Given the description of an element on the screen output the (x, y) to click on. 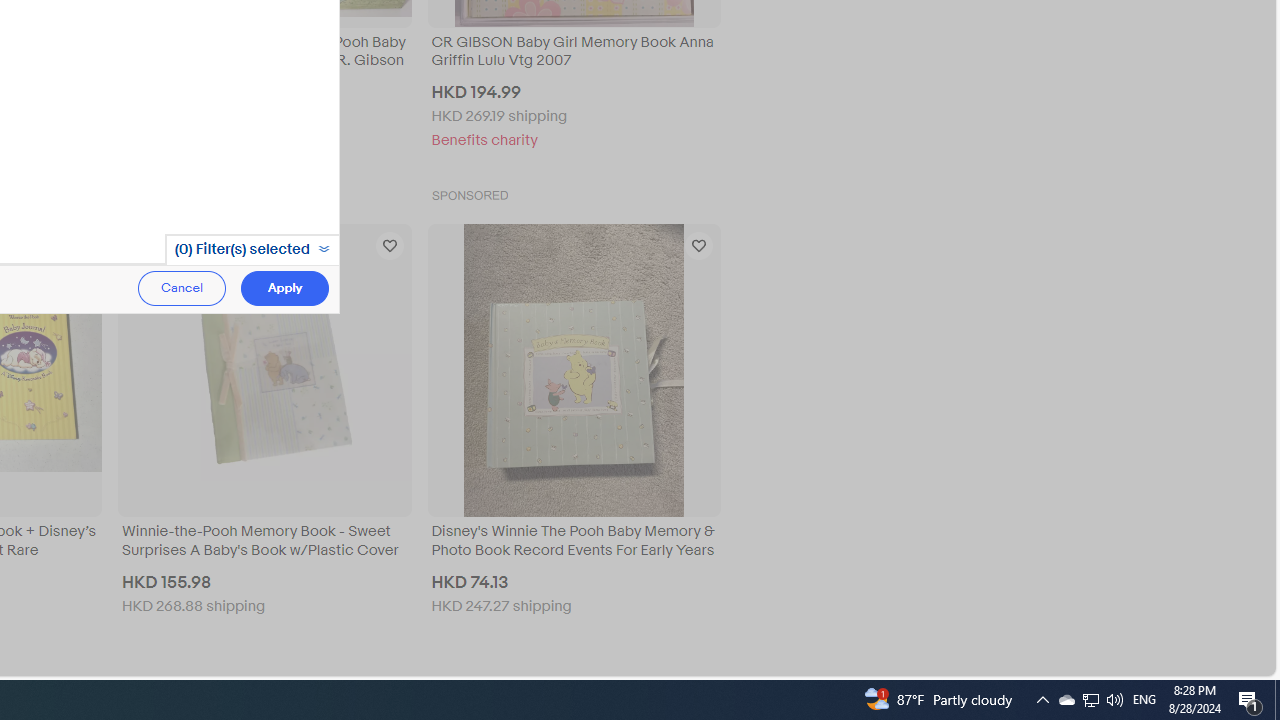
(0) Filter(s) selected (251, 249)
Cancel (182, 288)
Apply (284, 288)
